Given the description of an element on the screen output the (x, y) to click on. 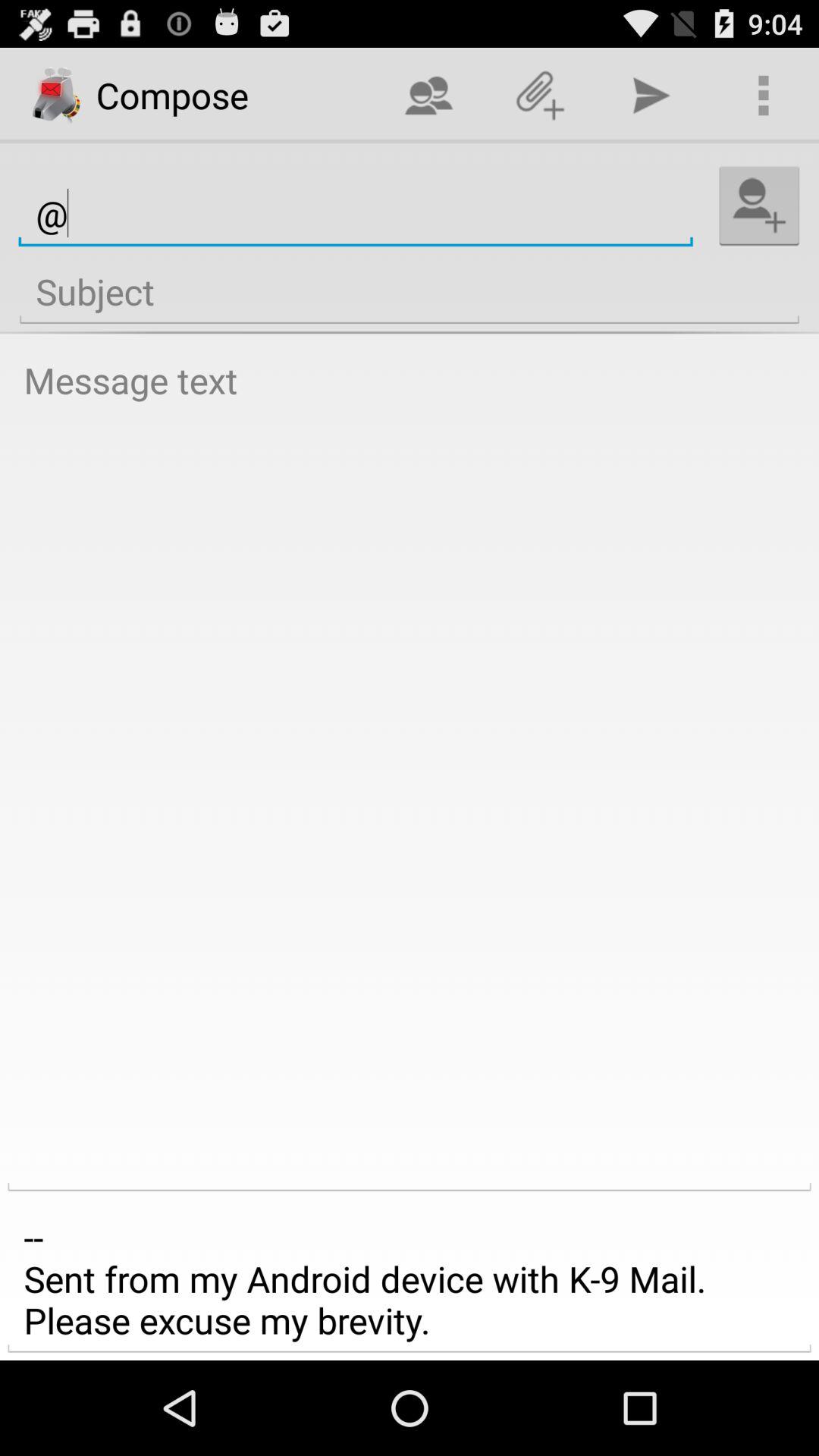
select the icon above @ (540, 95)
